Given the description of an element on the screen output the (x, y) to click on. 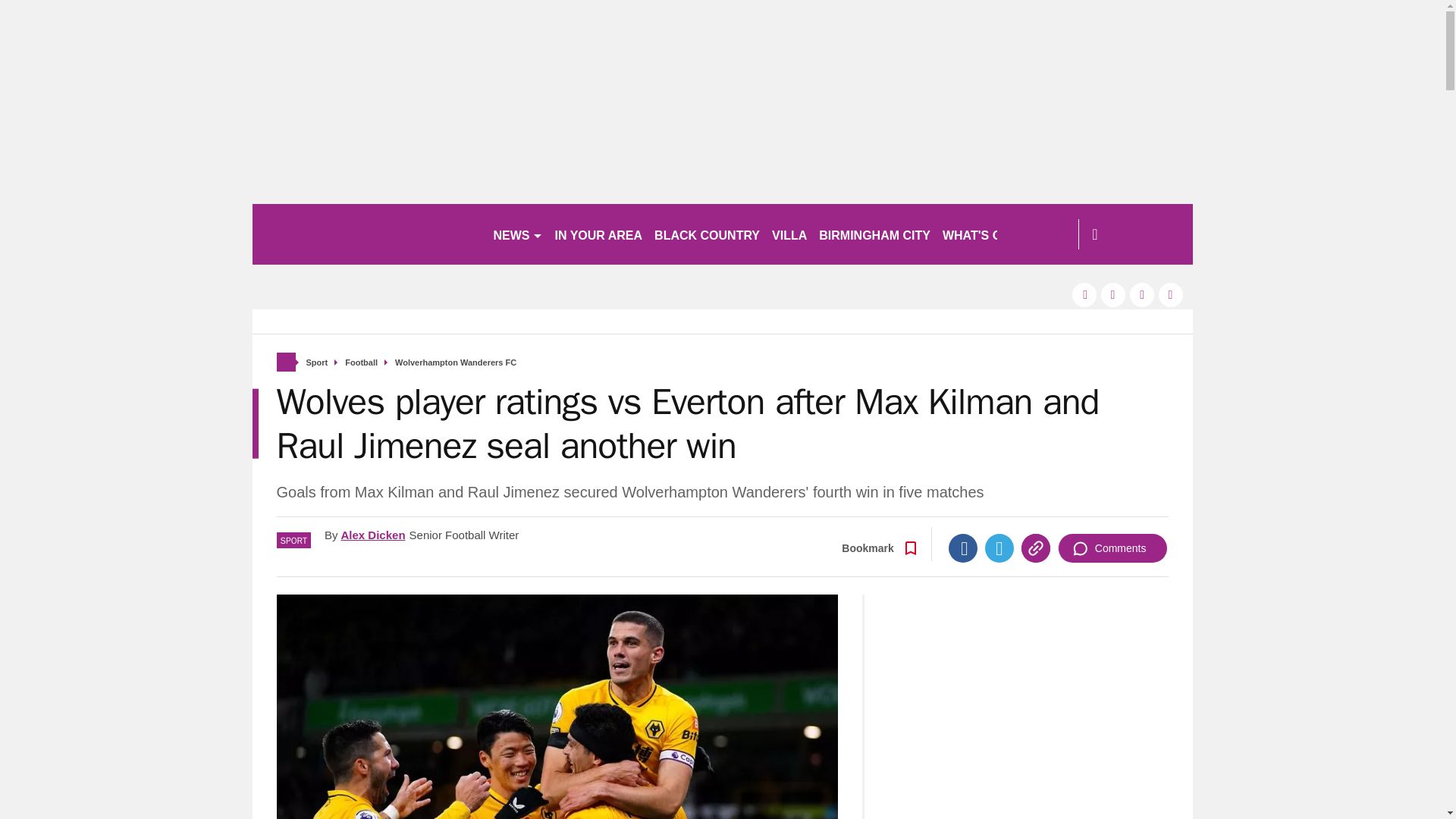
instagram (1170, 294)
Facebook (962, 547)
IN YOUR AREA (598, 233)
WHAT'S ON (982, 233)
Comments (1112, 547)
Twitter (999, 547)
birminghammail (365, 233)
facebook (1083, 294)
BIRMINGHAM CITY (874, 233)
BLACK COUNTRY (706, 233)
